Given the description of an element on the screen output the (x, y) to click on. 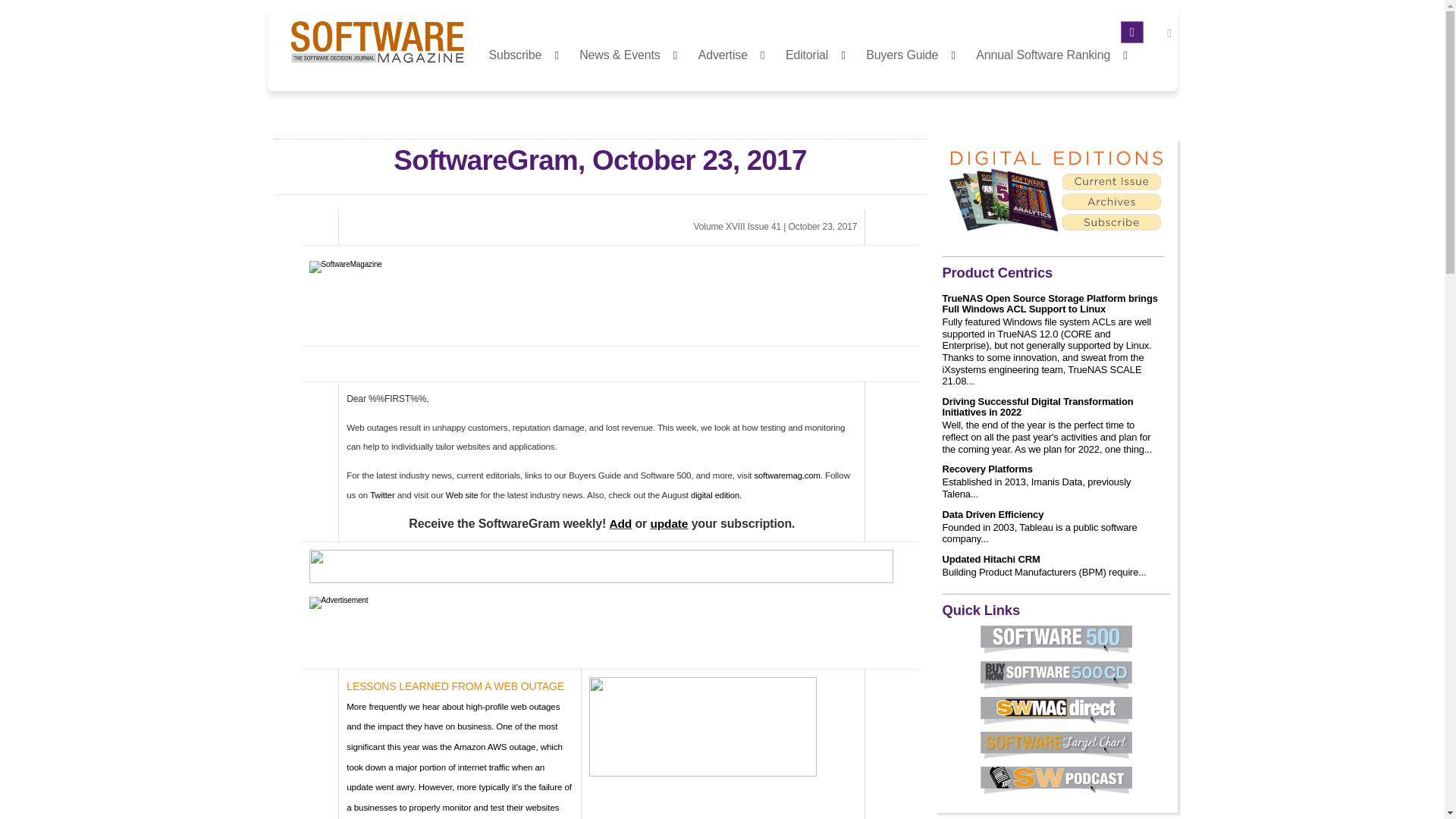
Editorial (819, 53)
digital edition (713, 494)
softwaremag.com (787, 474)
Add (619, 522)
Advertise (735, 53)
Subscribe (527, 53)
Web site (462, 494)
Twitter (382, 494)
Buyers Guide (915, 53)
Annual Software Ranking (1056, 53)
update (668, 522)
